Given the description of an element on the screen output the (x, y) to click on. 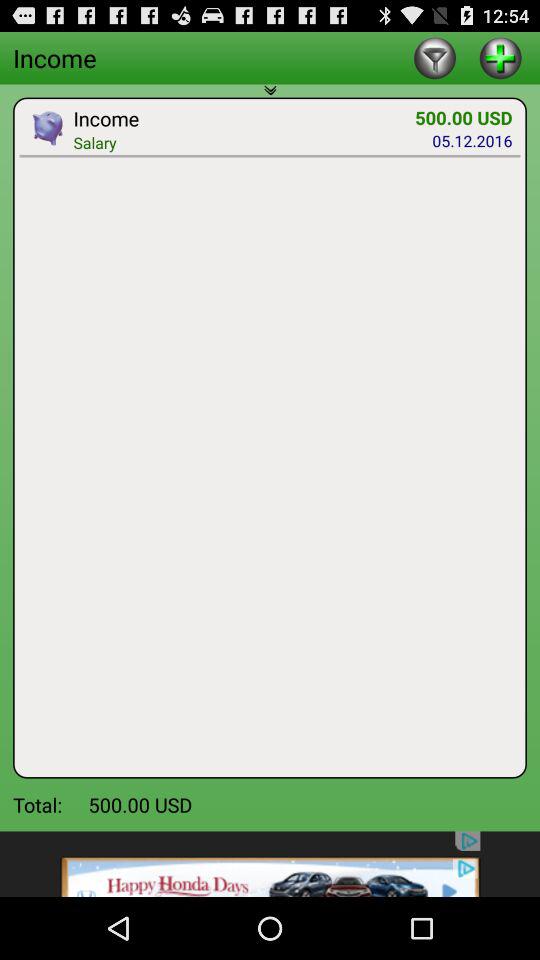
add information (500, 57)
